Given the description of an element on the screen output the (x, y) to click on. 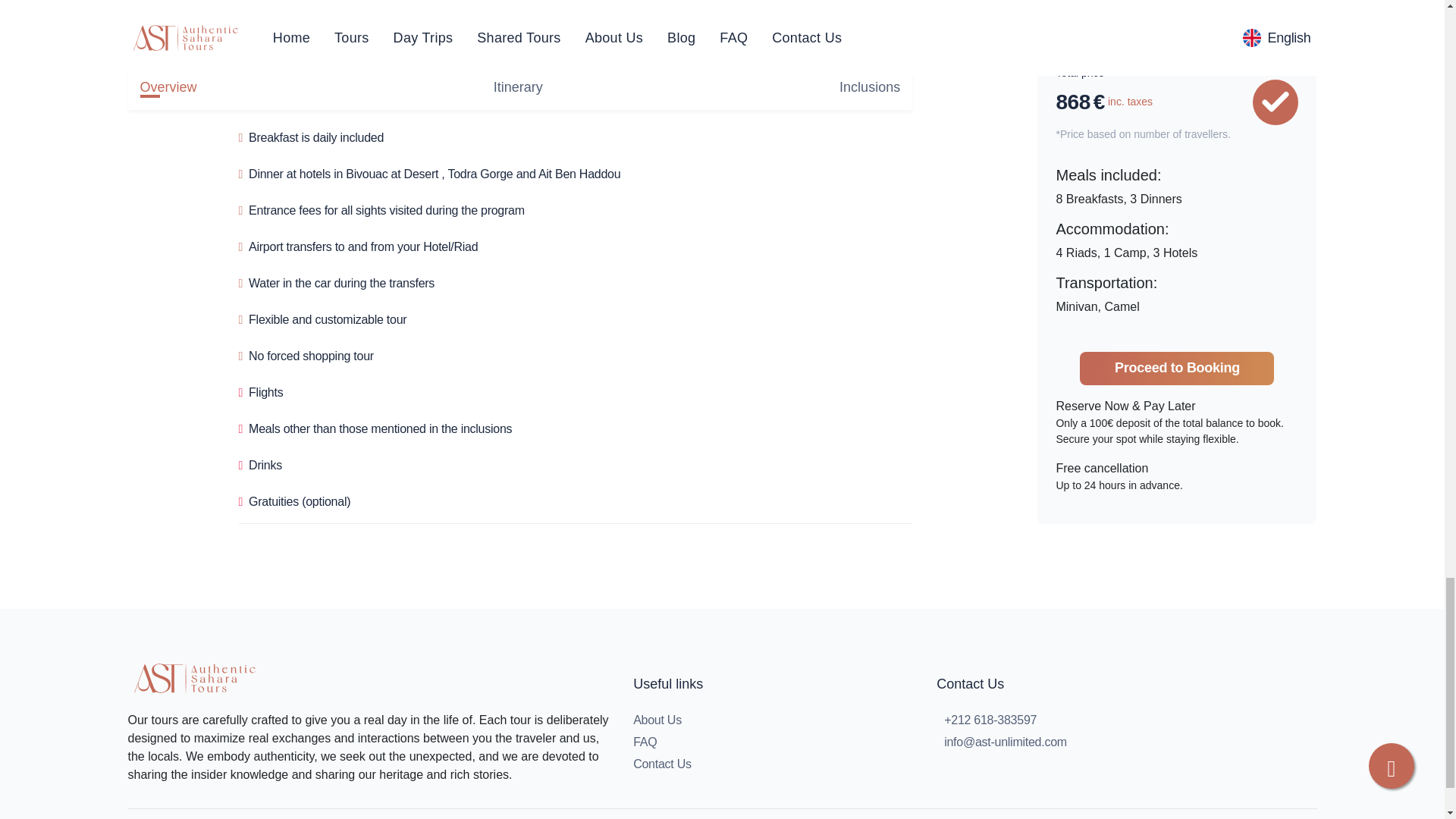
FAQ (644, 742)
About Us (657, 720)
Contact Us (662, 764)
